Given the description of an element on the screen output the (x, y) to click on. 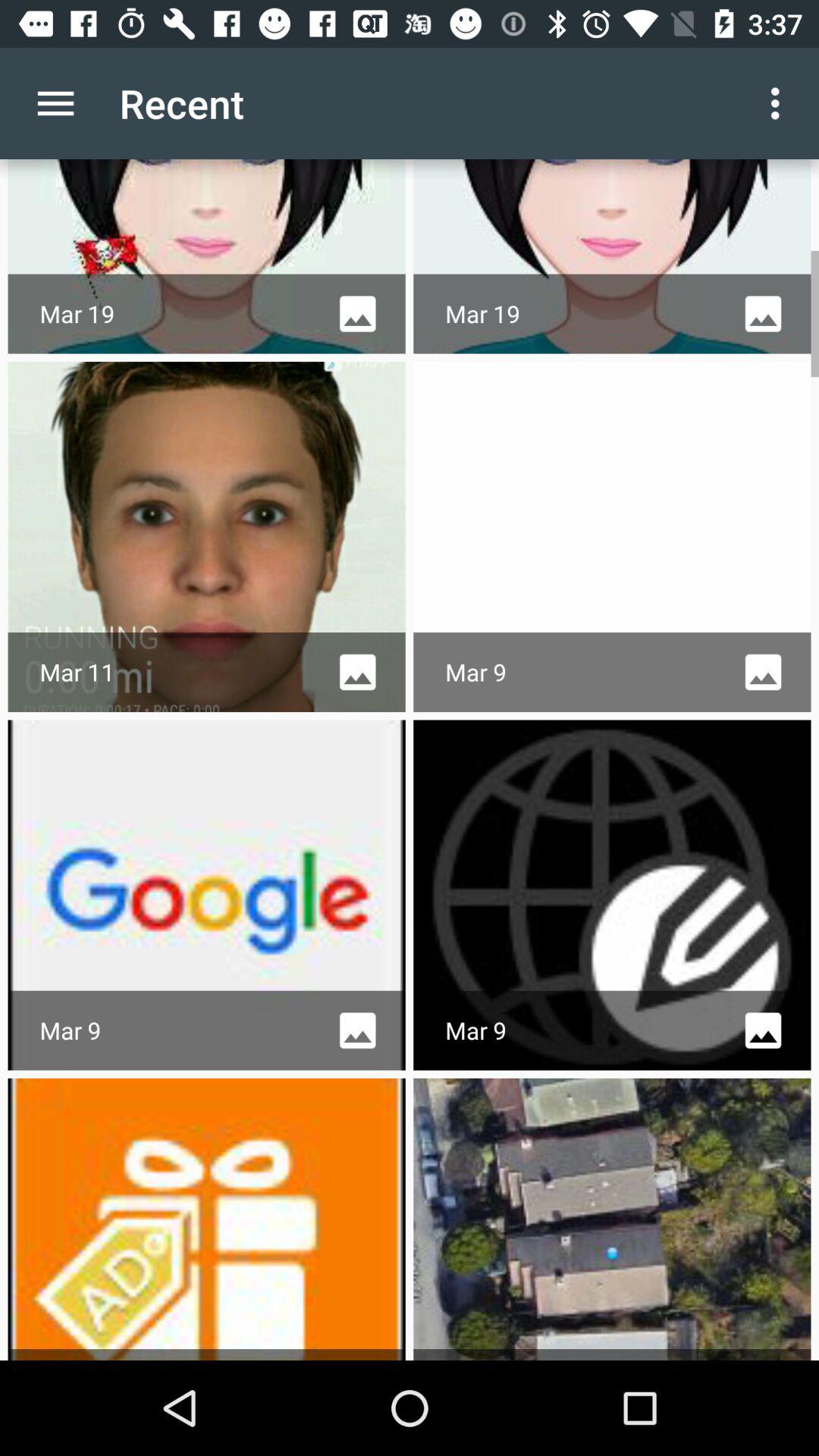
turn off icon to the left of the recent (55, 103)
